Given the description of an element on the screen output the (x, y) to click on. 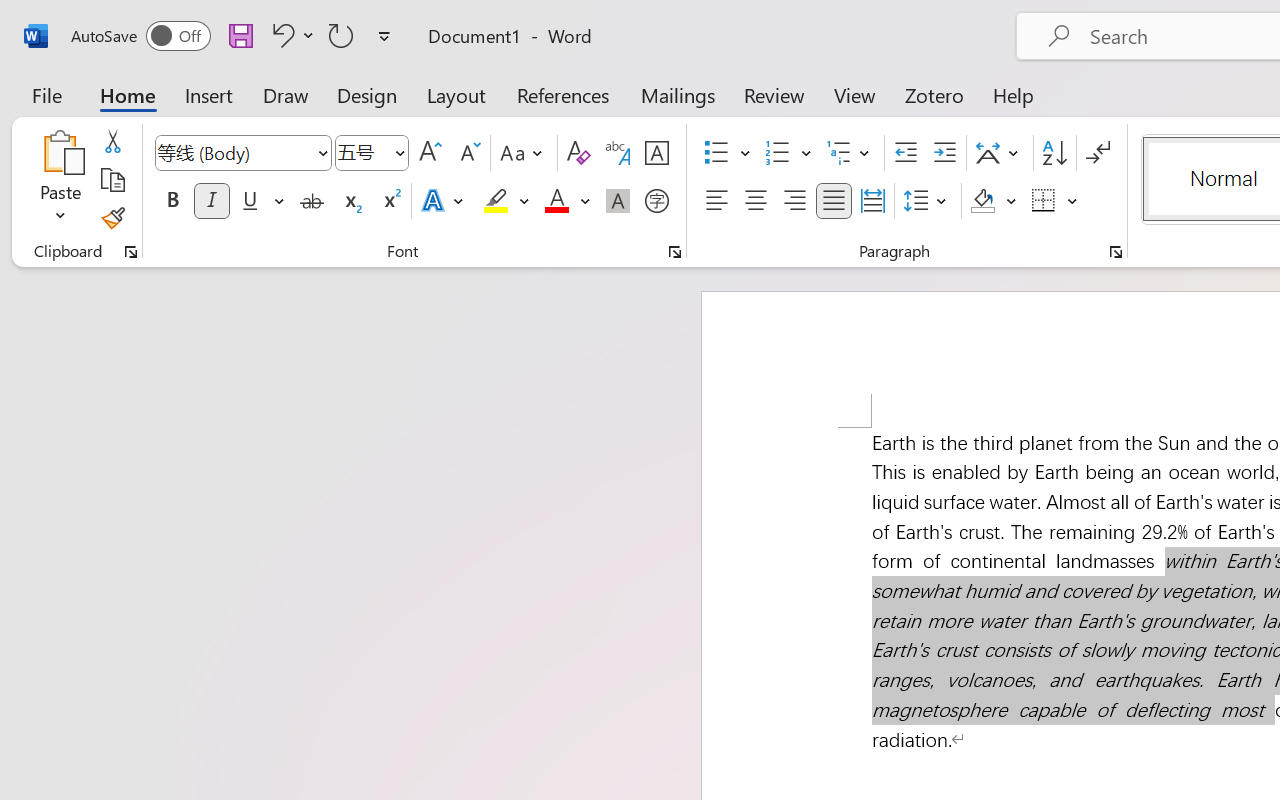
Shading RGB(0, 0, 0) (982, 201)
